Given the description of an element on the screen output the (x, y) to click on. 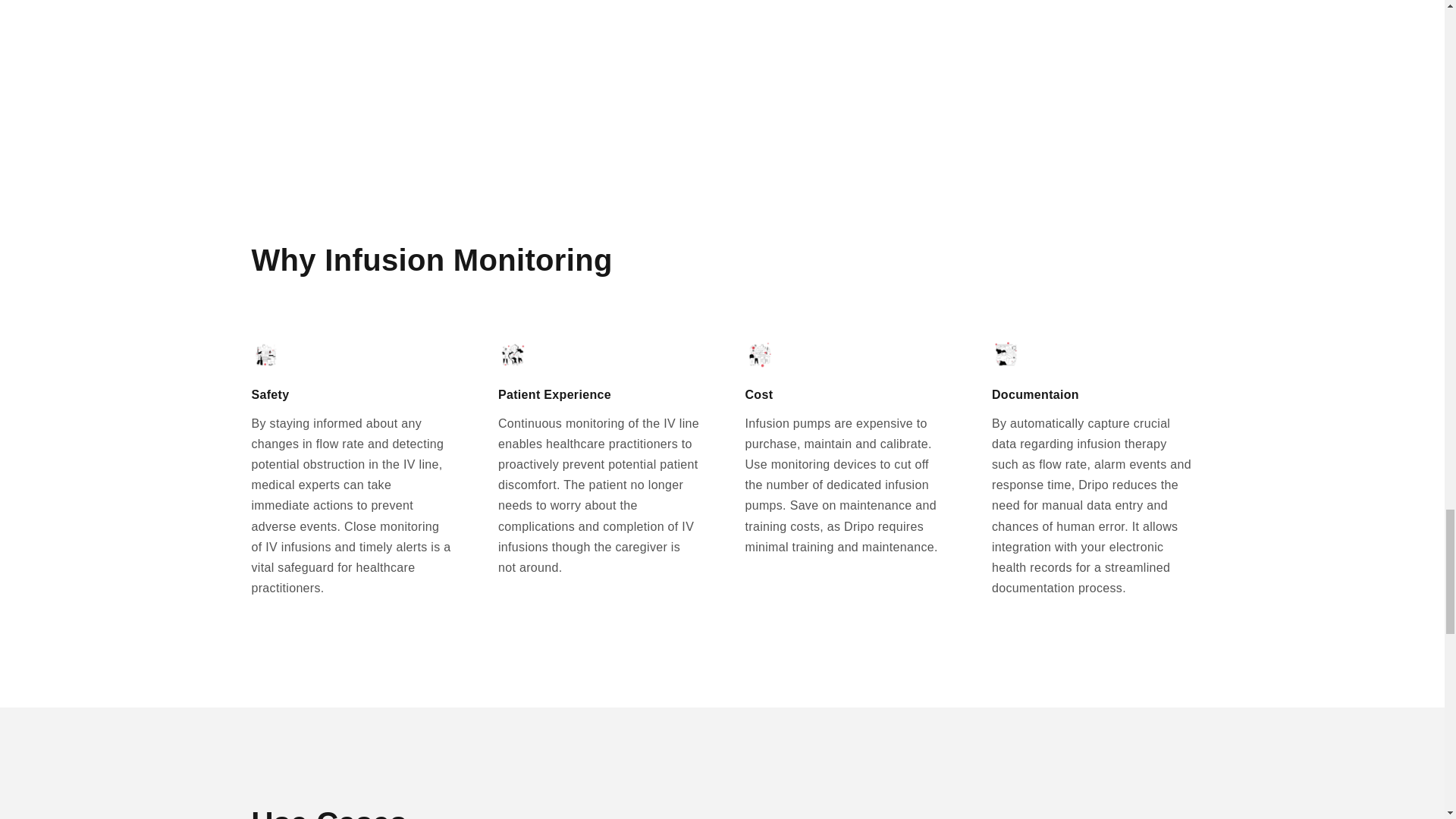
YouTube video player (722, 24)
